Given the description of an element on the screen output the (x, y) to click on. 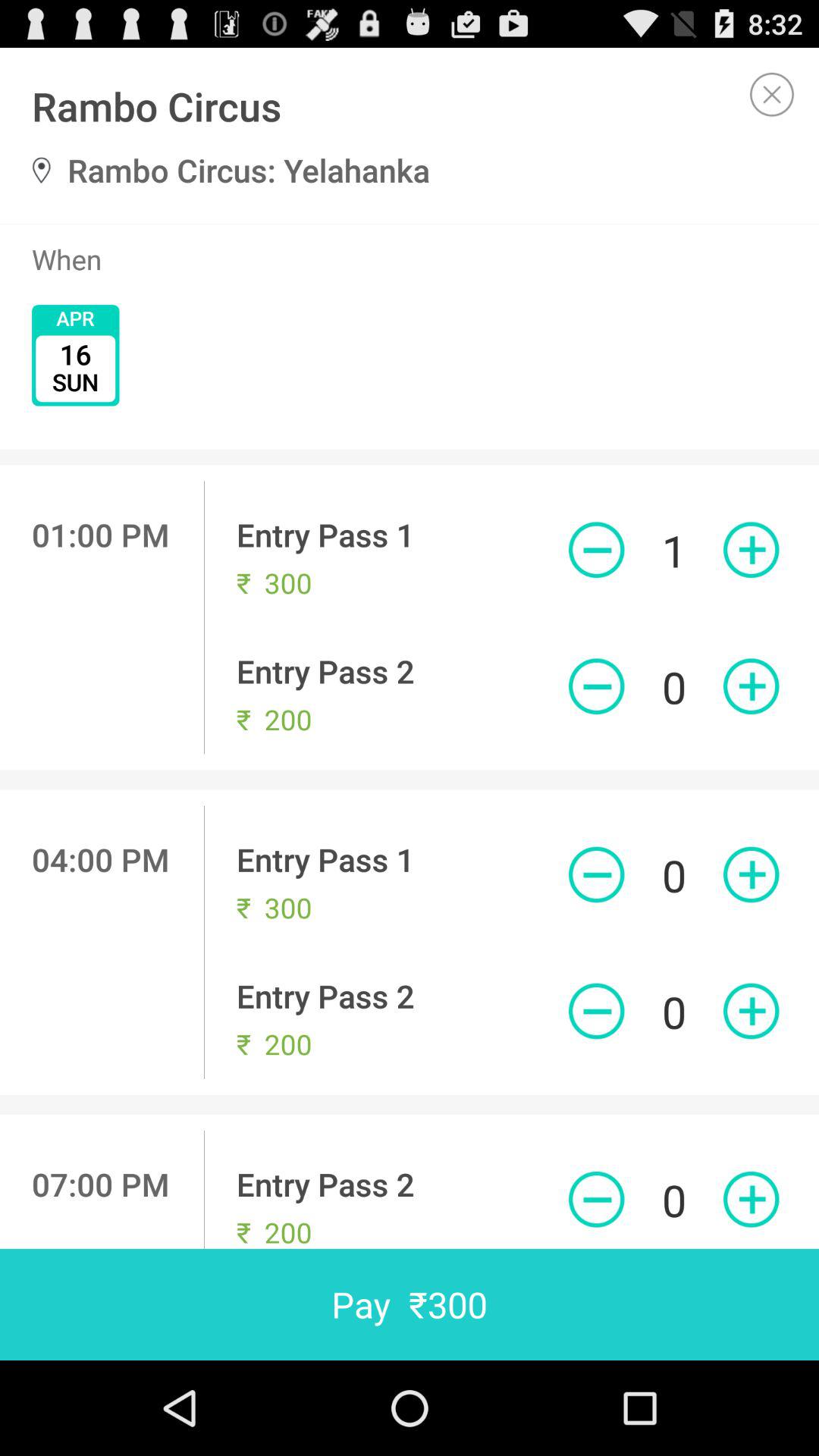
add one (751, 686)
